Given the description of an element on the screen output the (x, y) to click on. 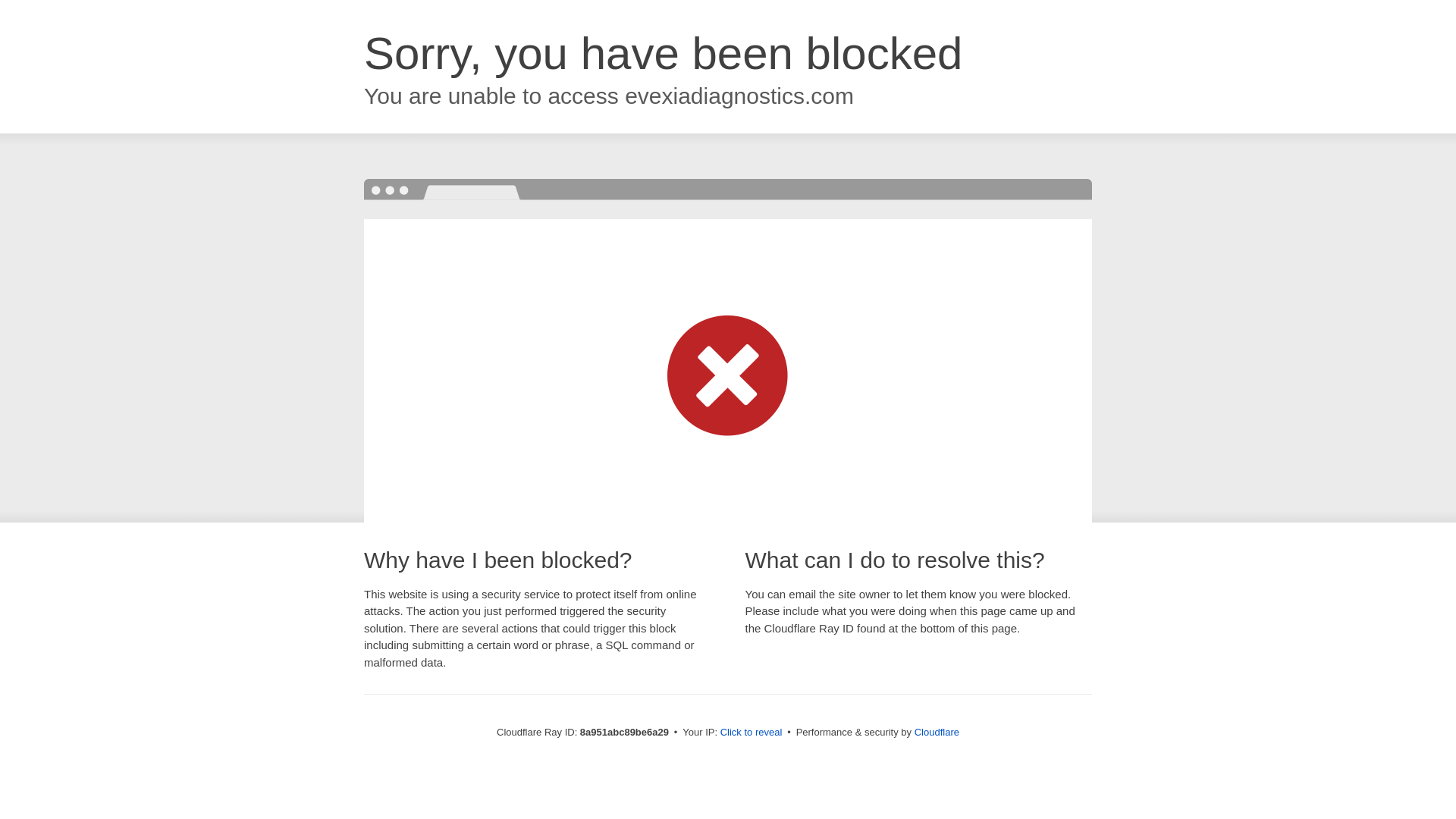
Cloudflare (936, 731)
Click to reveal (751, 732)
